Given the description of an element on the screen output the (x, y) to click on. 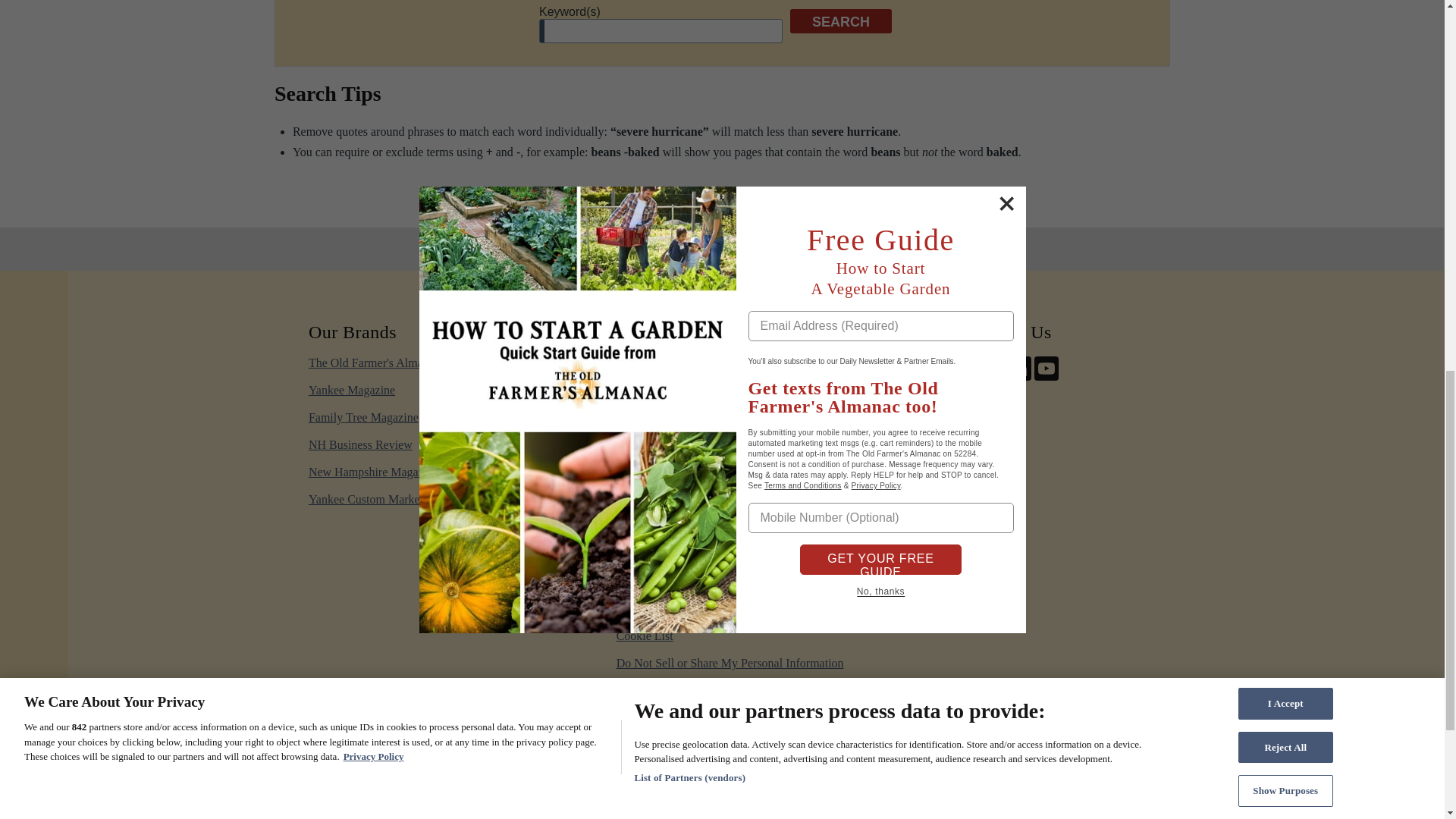
Search (840, 21)
